Given the description of an element on the screen output the (x, y) to click on. 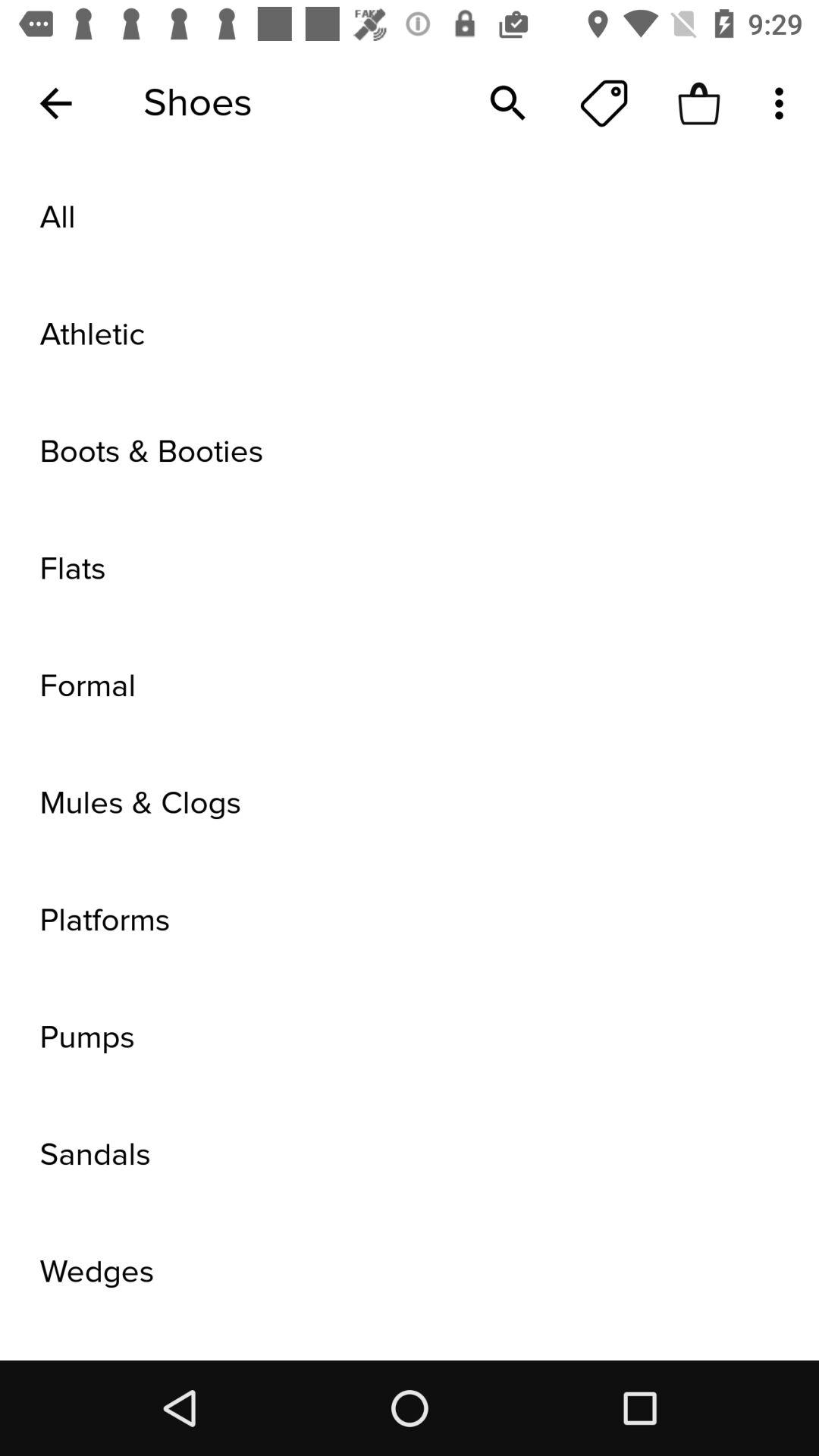
turn on icon below platforms icon (409, 1037)
